Given the description of an element on the screen output the (x, y) to click on. 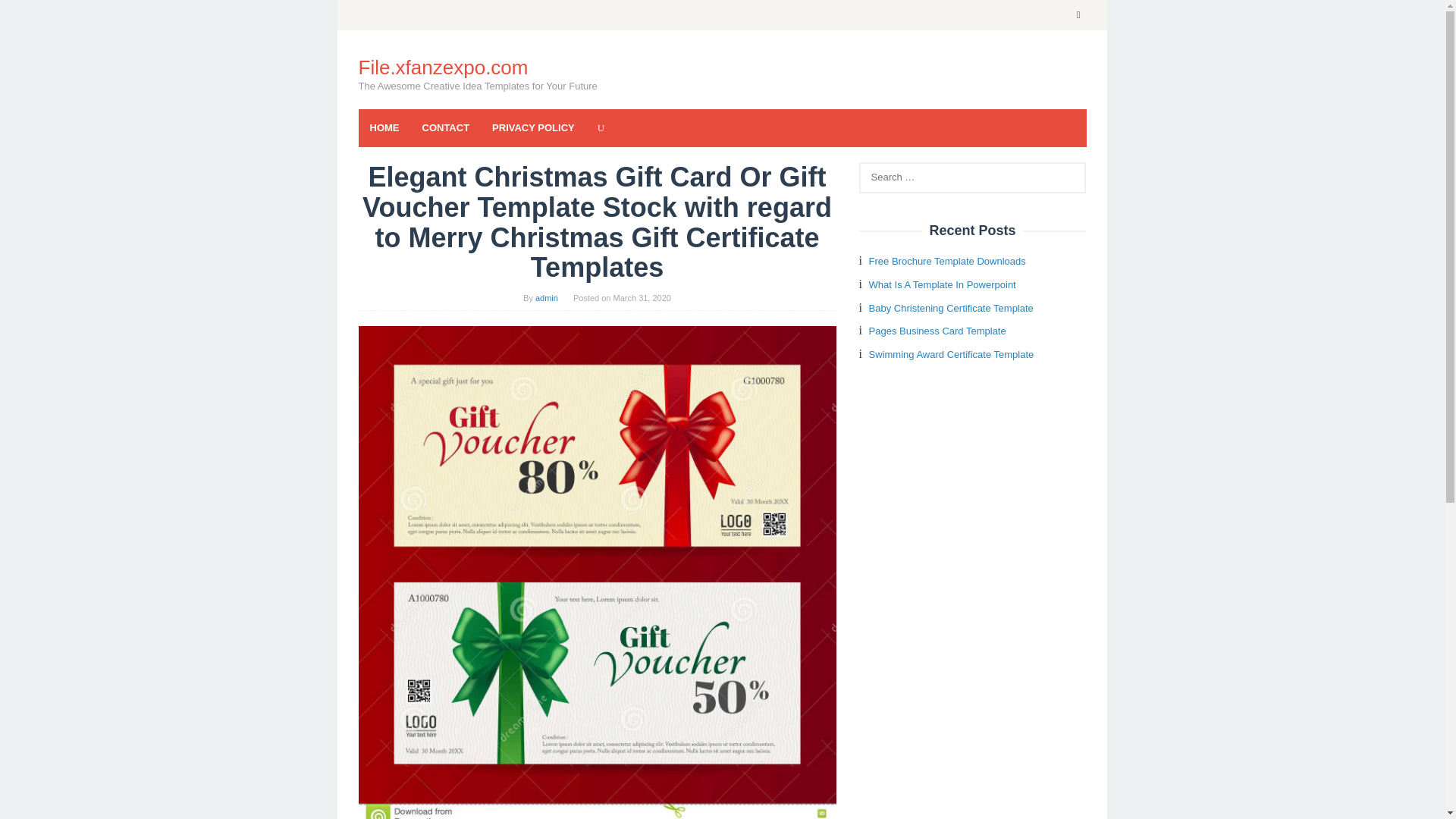
CONTACT (445, 127)
PRIVACY POLICY (533, 127)
RSS (1078, 15)
What Is A Template In Powerpoint (942, 284)
Search (27, 15)
HOME (384, 127)
Free Brochure Template Downloads (947, 260)
Permalink to: admin (546, 297)
Swimming Award Certificate Template (951, 354)
Pages Business Card Template (937, 330)
admin (546, 297)
File.xfanzexpo.com (442, 67)
Baby Christening Certificate Template (951, 307)
